Given the description of an element on the screen output the (x, y) to click on. 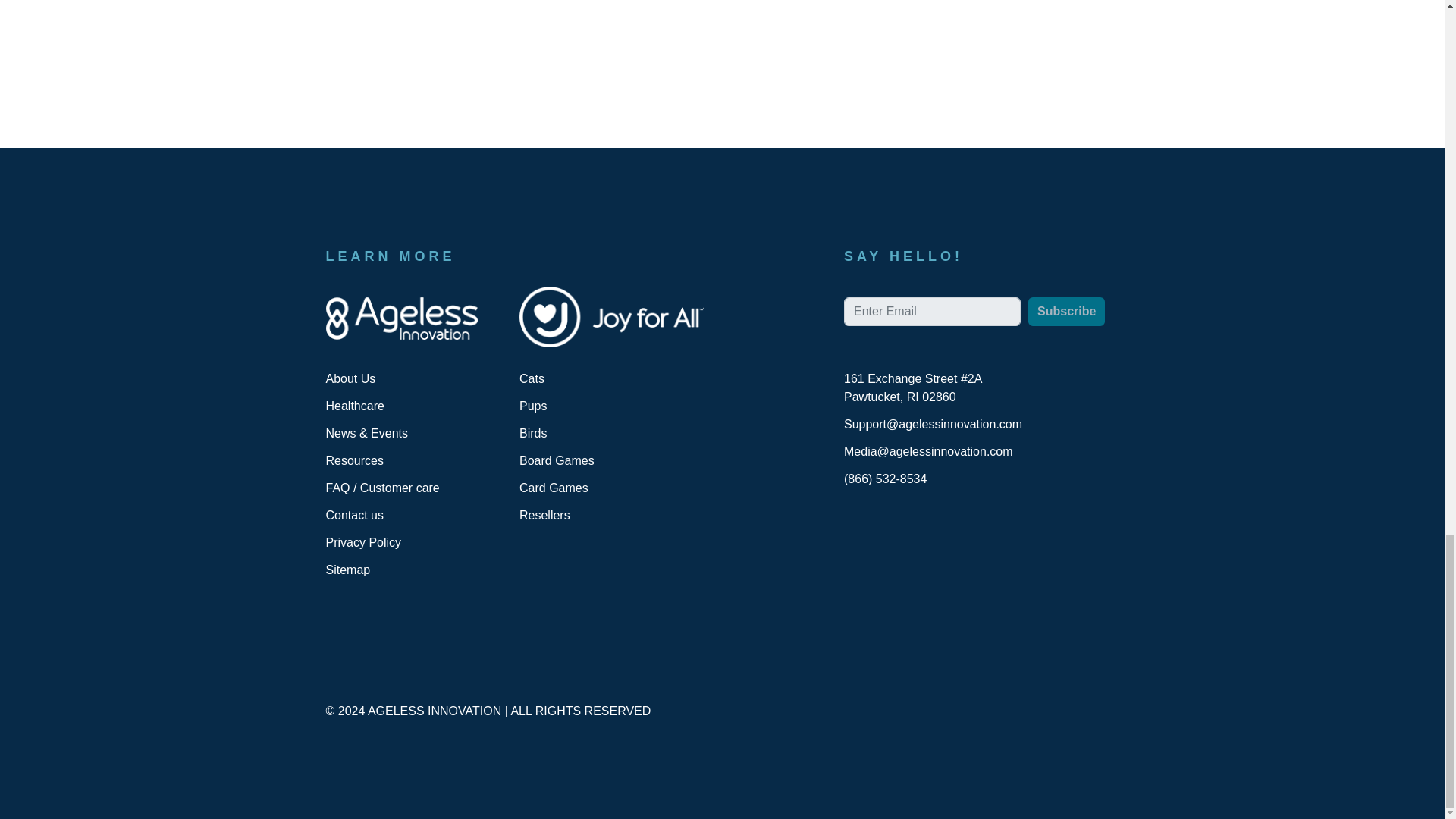
Birds (533, 432)
Healthcare (355, 405)
Cats (531, 378)
About Us (350, 378)
Resources (355, 460)
Privacy Policy (363, 542)
Subscribe (1066, 311)
Pups (533, 405)
Sitemap (348, 569)
Contact us (355, 514)
